Given the description of an element on the screen output the (x, y) to click on. 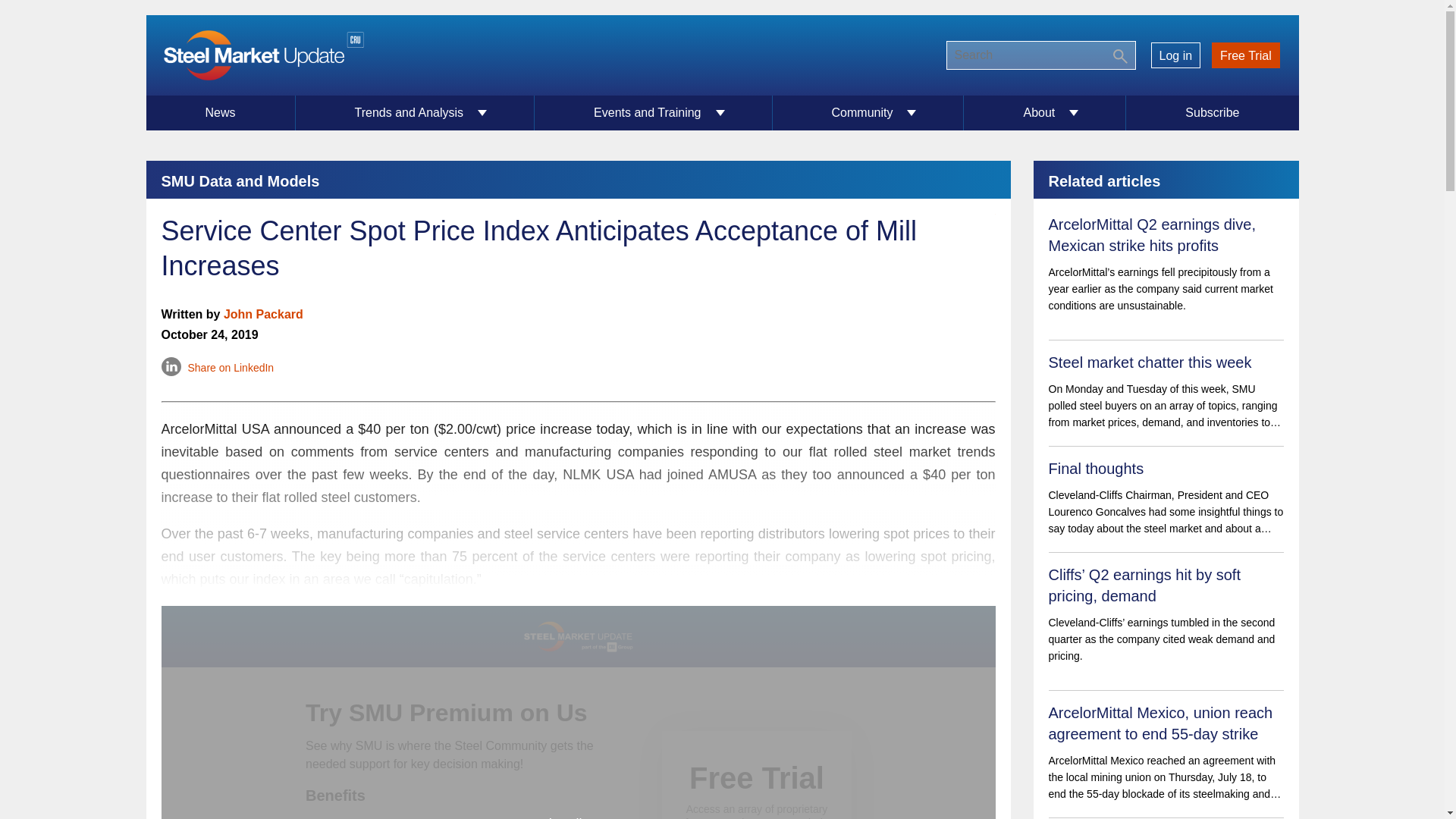
Trends and Analysis (415, 112)
News (220, 112)
Home (262, 55)
Free Trial (1245, 55)
Log in (1175, 55)
